Given the description of an element on the screen output the (x, y) to click on. 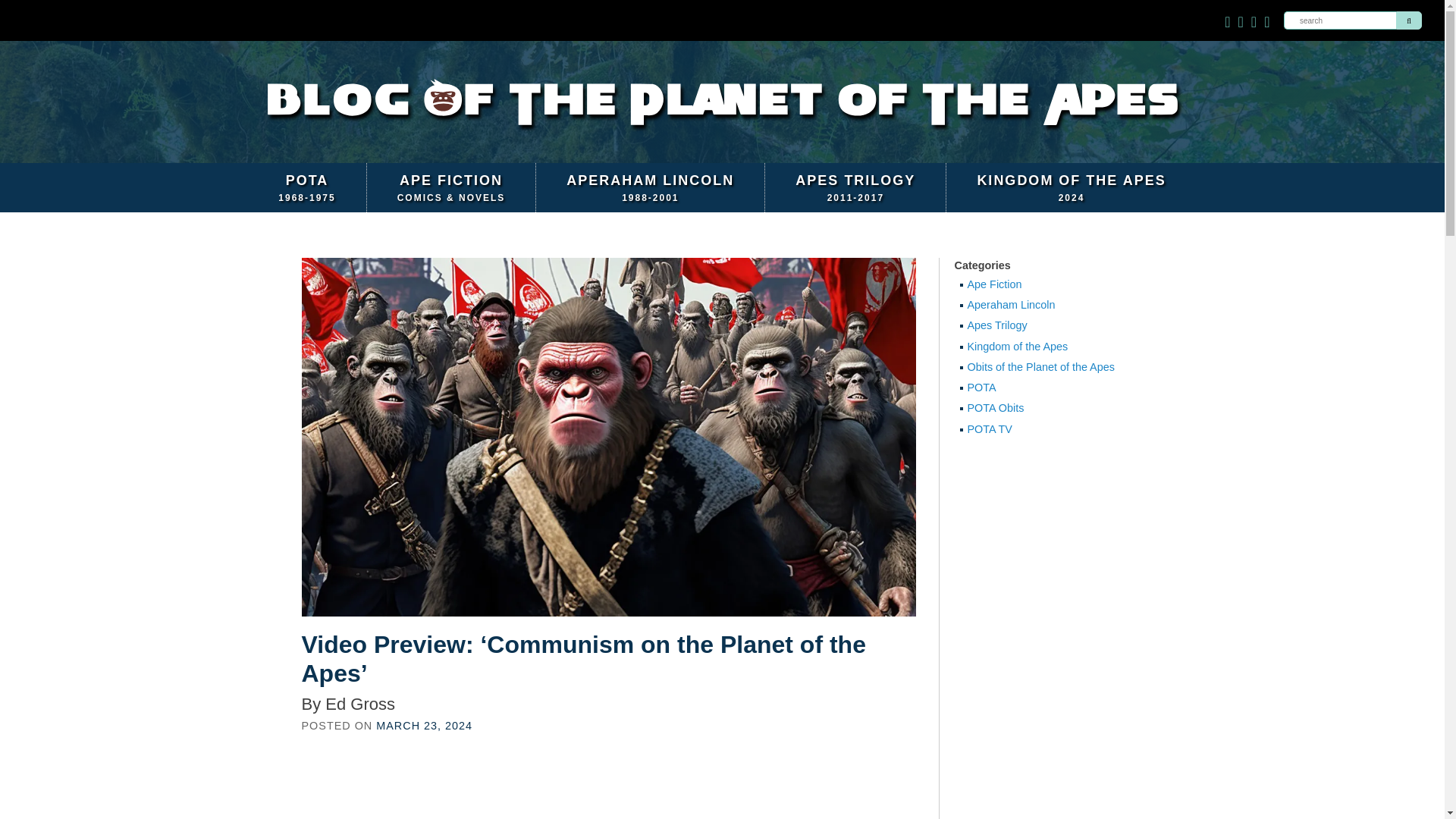
Apes Trilogy (1044, 325)
Kingdom of the Apes (1044, 346)
MARCH 23, 2024 (306, 187)
Ape Fiction (423, 725)
Aperaham Lincoln (650, 187)
POTA (1044, 284)
Obits of the Planet of the Apes (1044, 305)
Search (1044, 387)
POTA TV (1044, 367)
POTA Obits (855, 187)
